Given the description of an element on the screen output the (x, y) to click on. 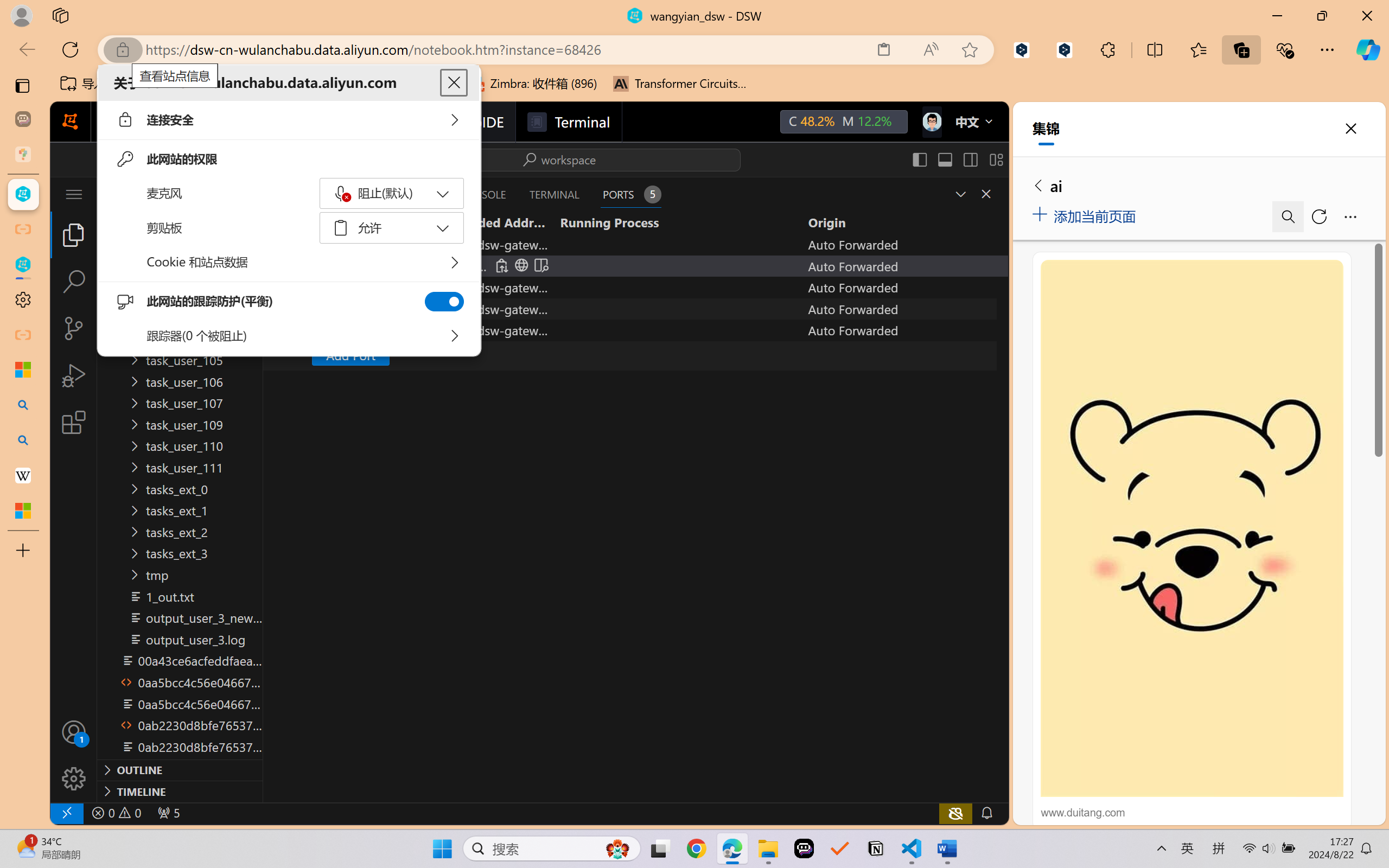
Restore Panel Size (959, 193)
